Given the description of an element on the screen output the (x, y) to click on. 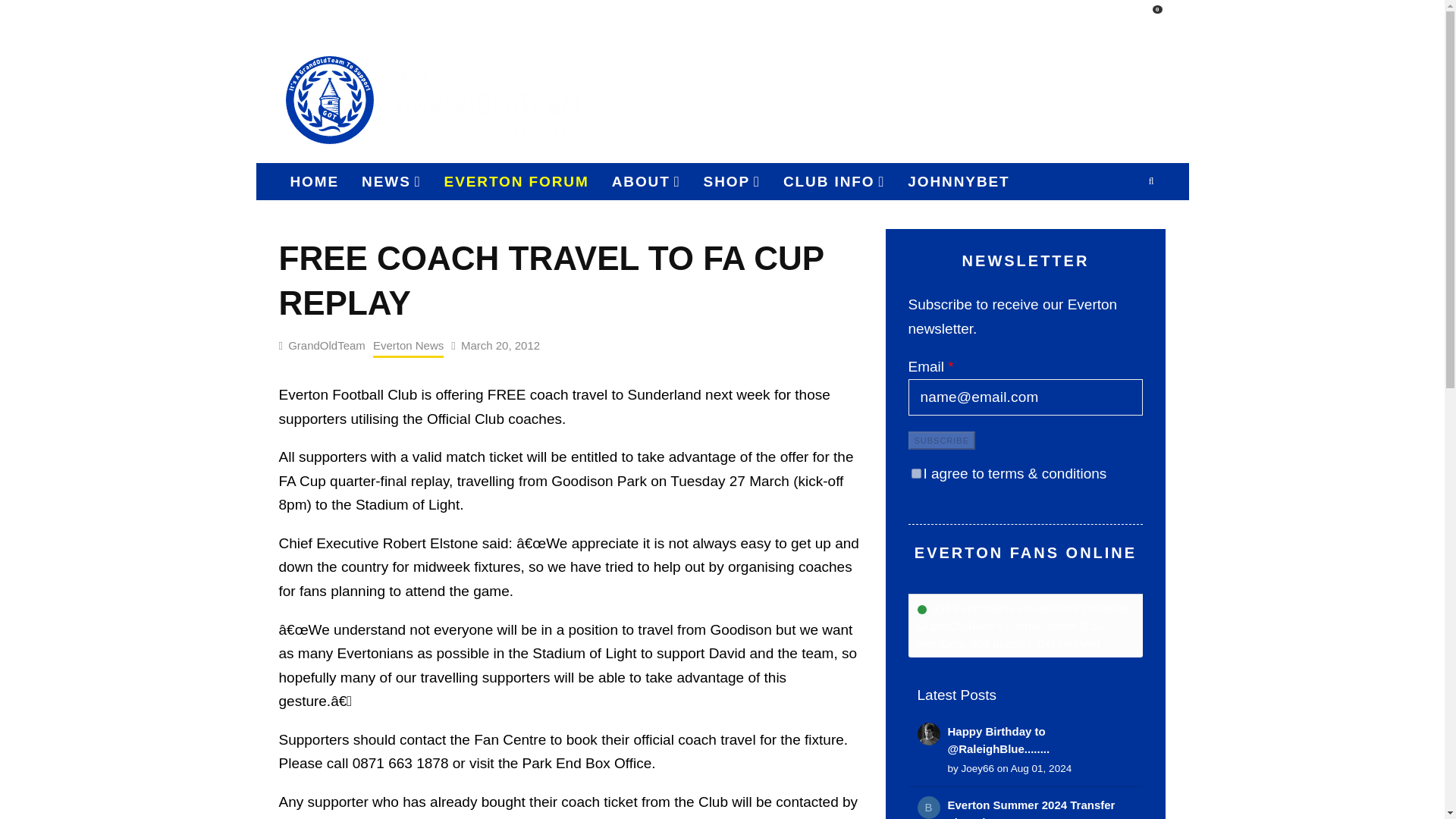
About (646, 181)
Subscribe (941, 440)
Grand Old Team Shop (1094, 98)
SUBSCRIBE (1013, 18)
ABOUT (646, 181)
NEWS (391, 181)
EVERTON FORUM (515, 181)
on (916, 473)
CLUB INFO (833, 181)
HOME (314, 181)
SHOP (732, 181)
